Given the description of an element on the screen output the (x, y) to click on. 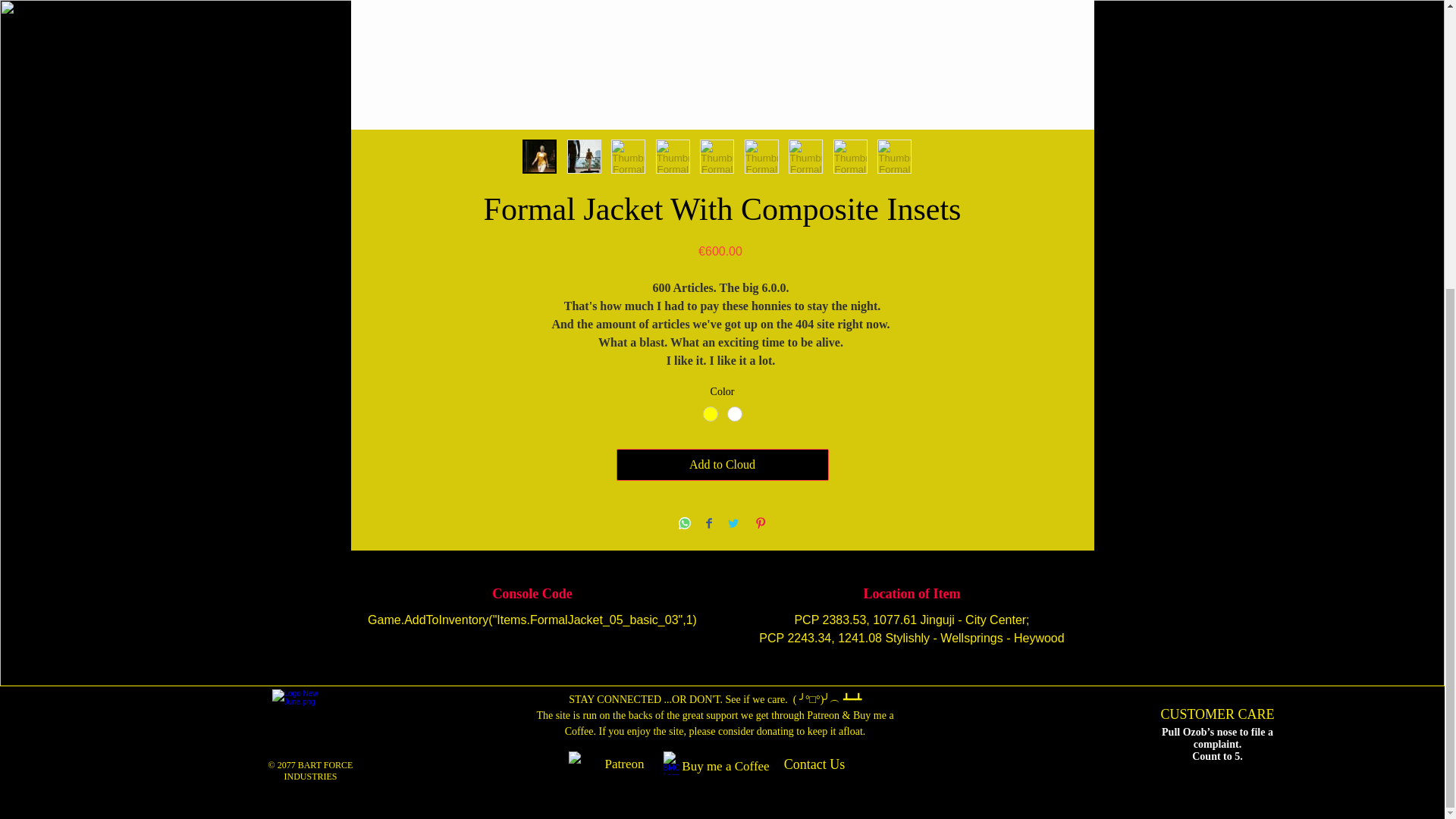
Contact Us (814, 764)
Patreon (625, 763)
Buy me a Coffee (724, 766)
Add to Cloud (721, 464)
